Given the description of an element on the screen output the (x, y) to click on. 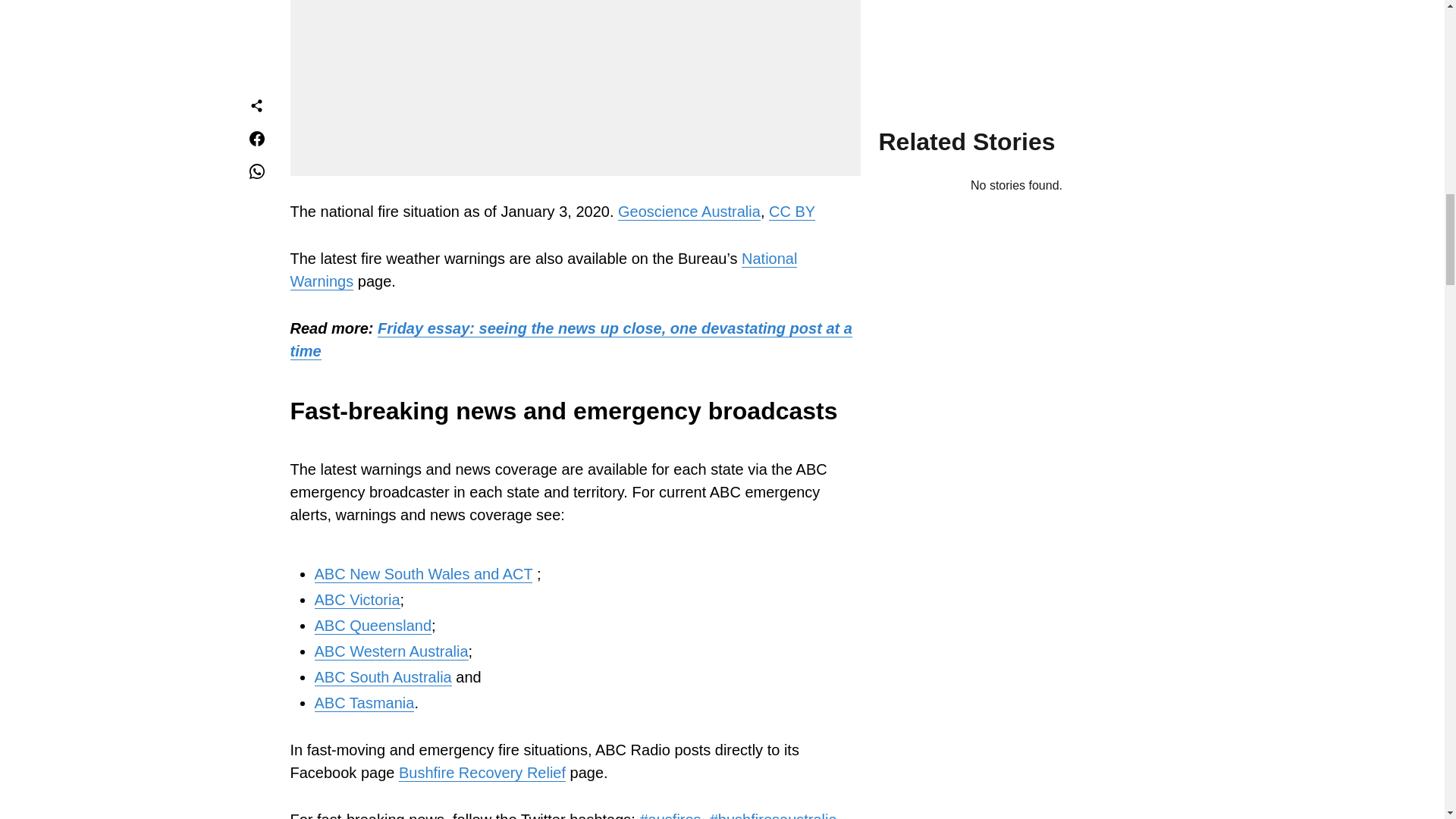
ABC Victoria (356, 600)
National Warnings (542, 270)
ABC New South Wales and ACT (423, 574)
CC BY (791, 211)
Geoscience Australia (688, 211)
